Given the description of an element on the screen output the (x, y) to click on. 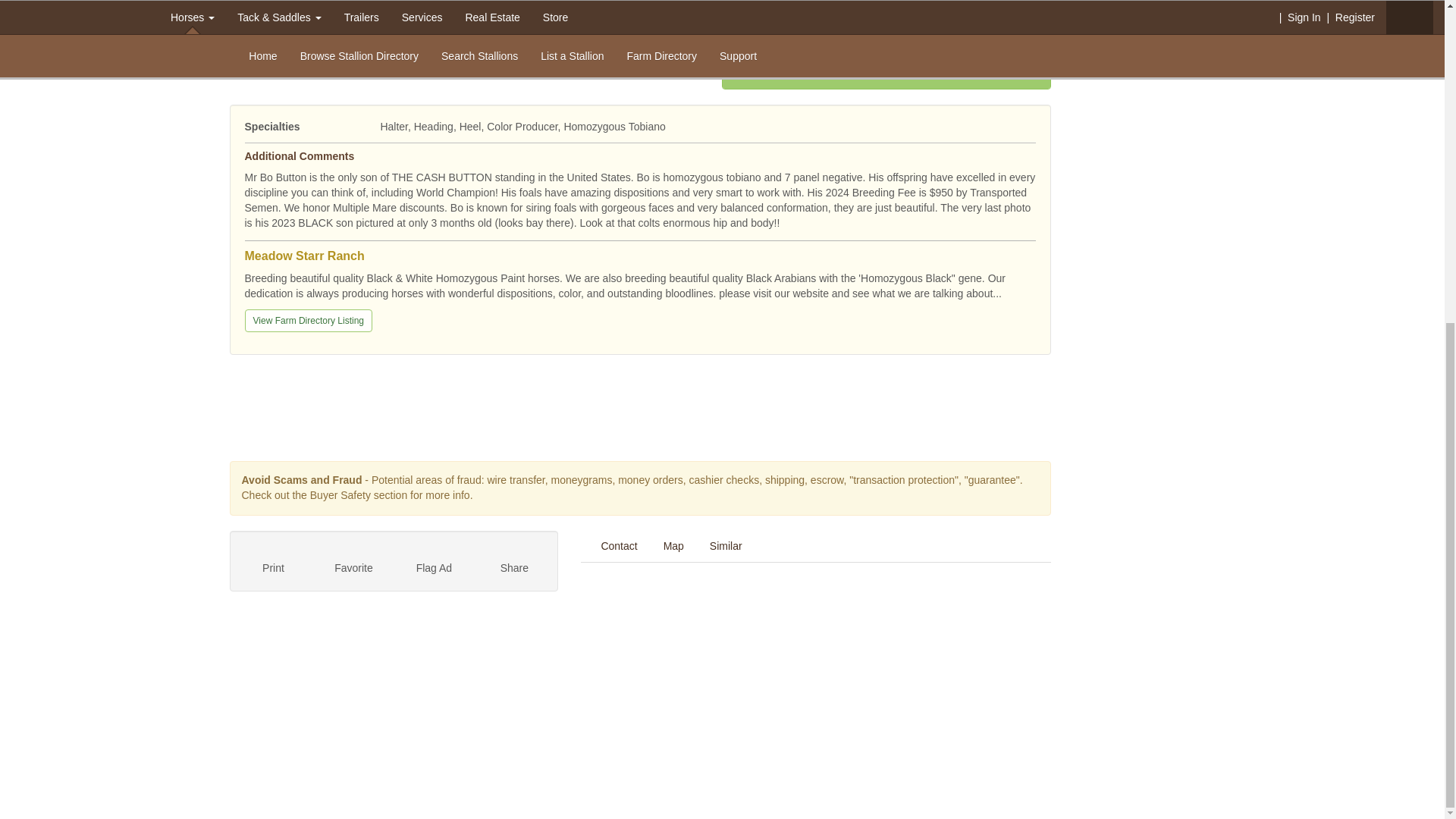
Aphaptha Paint Stallion (284, 5)
Aphaptha Paint Horse (404, 5)
Black Paint (523, 5)
